Given the description of an element on the screen output the (x, y) to click on. 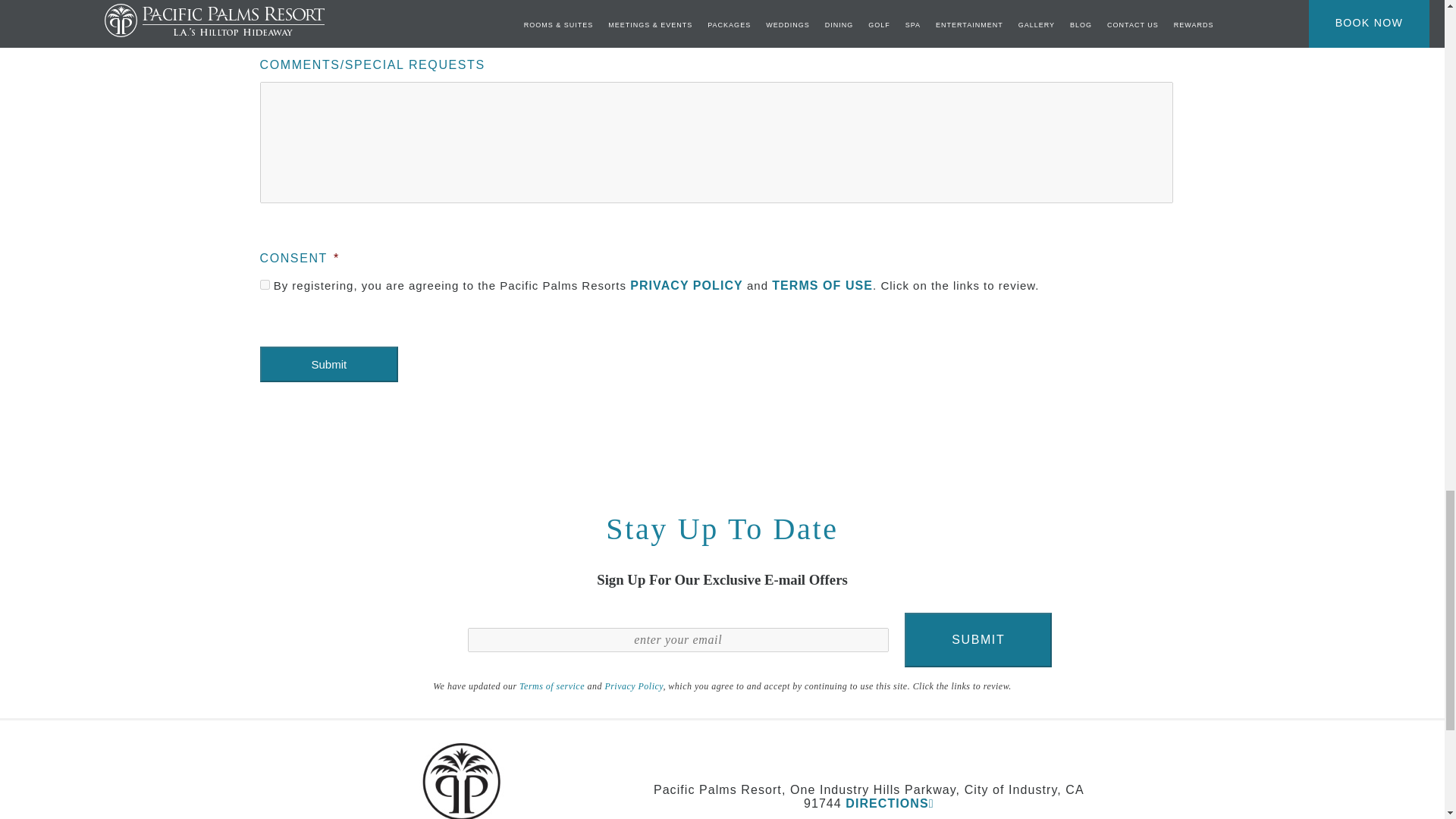
Submit (328, 364)
Submit (977, 639)
1 (264, 284)
